Given the description of an element on the screen output the (x, y) to click on. 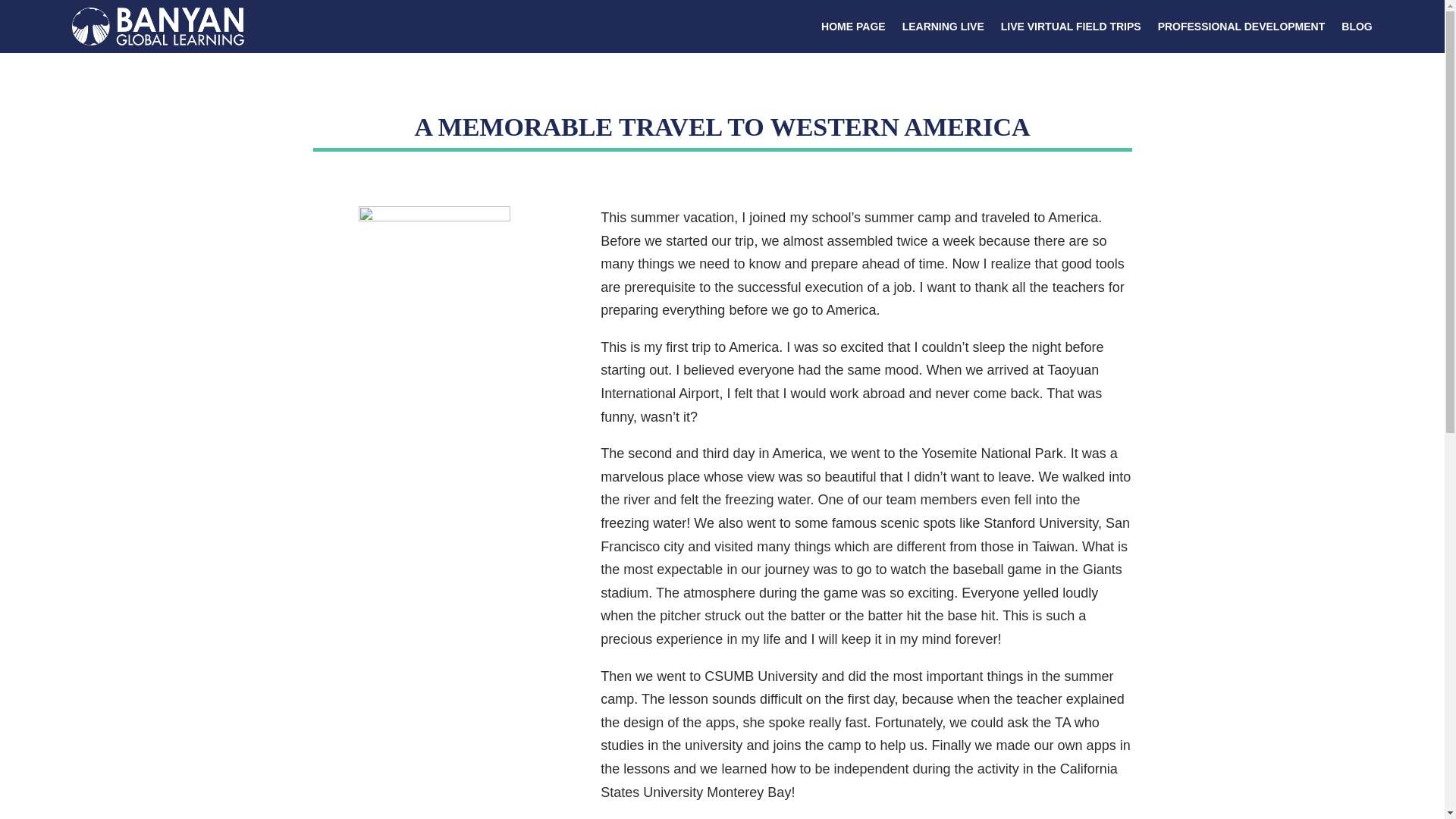
PROFESSIONAL DEVELOPMENT (1240, 26)
BLOG (1355, 26)
LEARNING LIVE (943, 26)
LIVE VIRTUAL FIELD TRIPS (1071, 26)
HOME PAGE (853, 26)
